Given the description of an element on the screen output the (x, y) to click on. 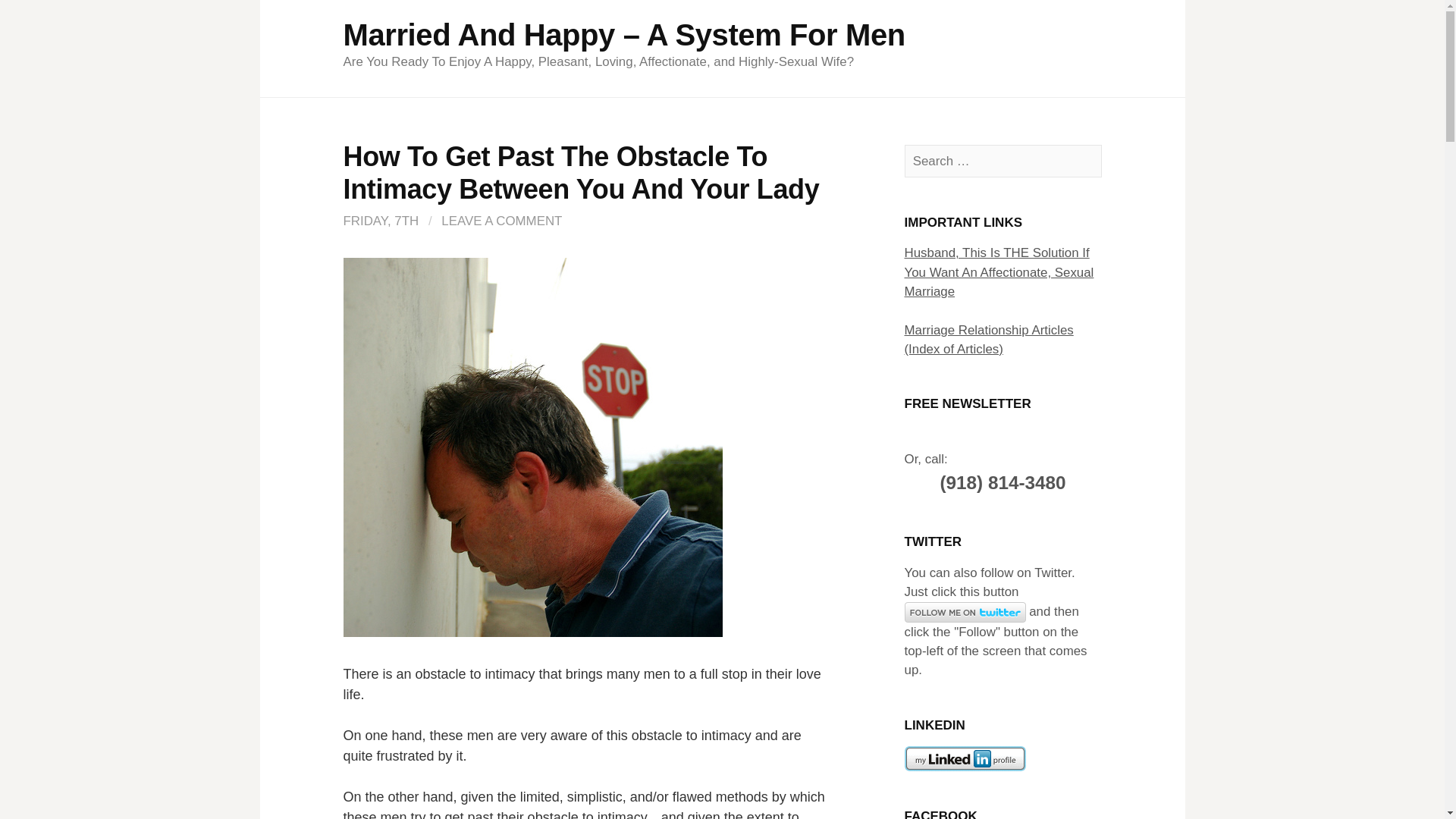
LEAVE A COMMENT (501, 220)
Search (40, 16)
FRIDAY, 7TH (380, 220)
